Given the description of an element on the screen output the (x, y) to click on. 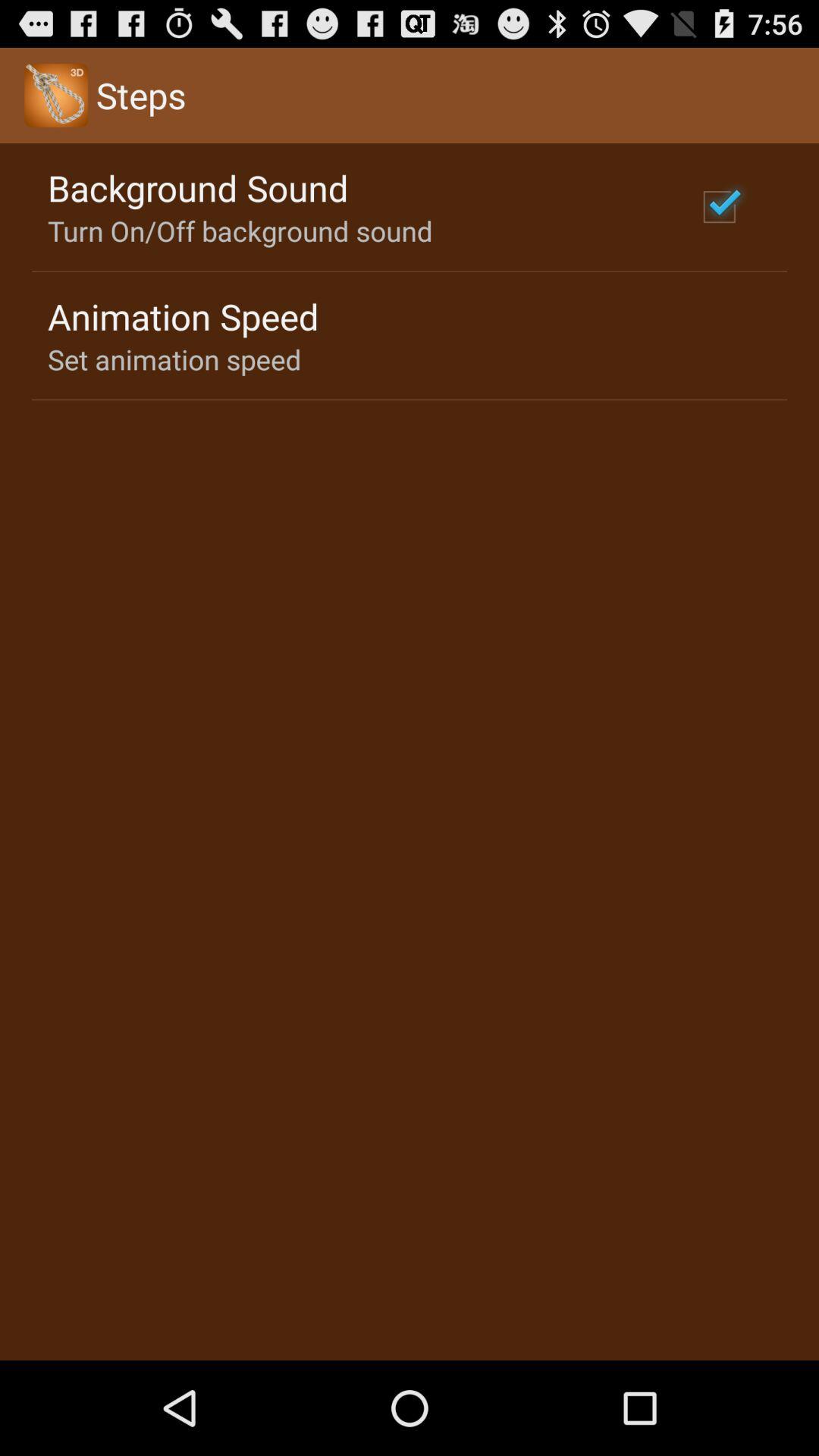
turn off the app next to turn on off (719, 206)
